Given the description of an element on the screen output the (x, y) to click on. 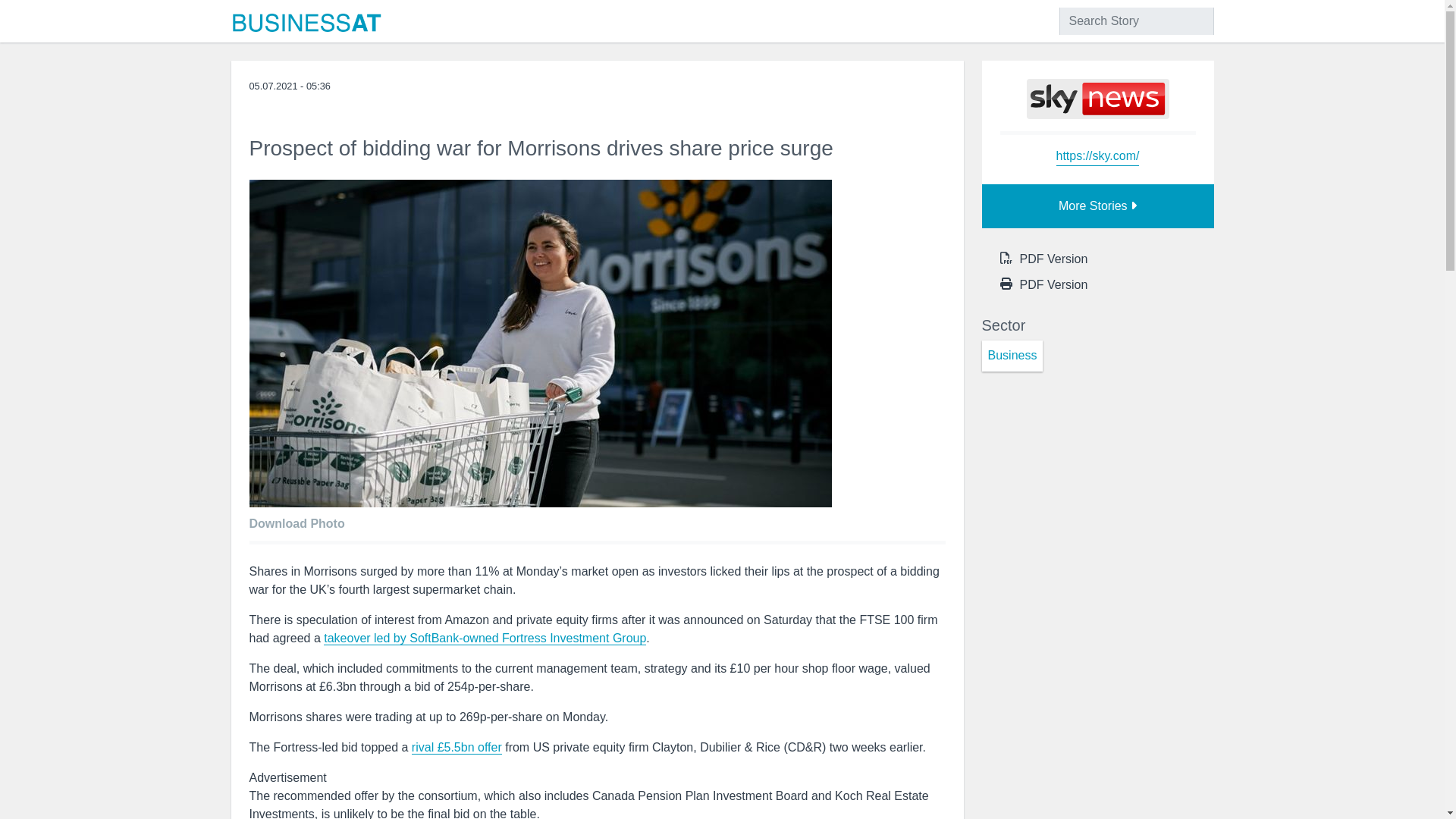
More Stories (1096, 206)
PDF Version (1052, 284)
Business (1011, 355)
takeover led by SoftBank-owned Fortress Investment Group (484, 638)
PDF Version (1052, 258)
Download Photo (300, 519)
